Given the description of an element on the screen output the (x, y) to click on. 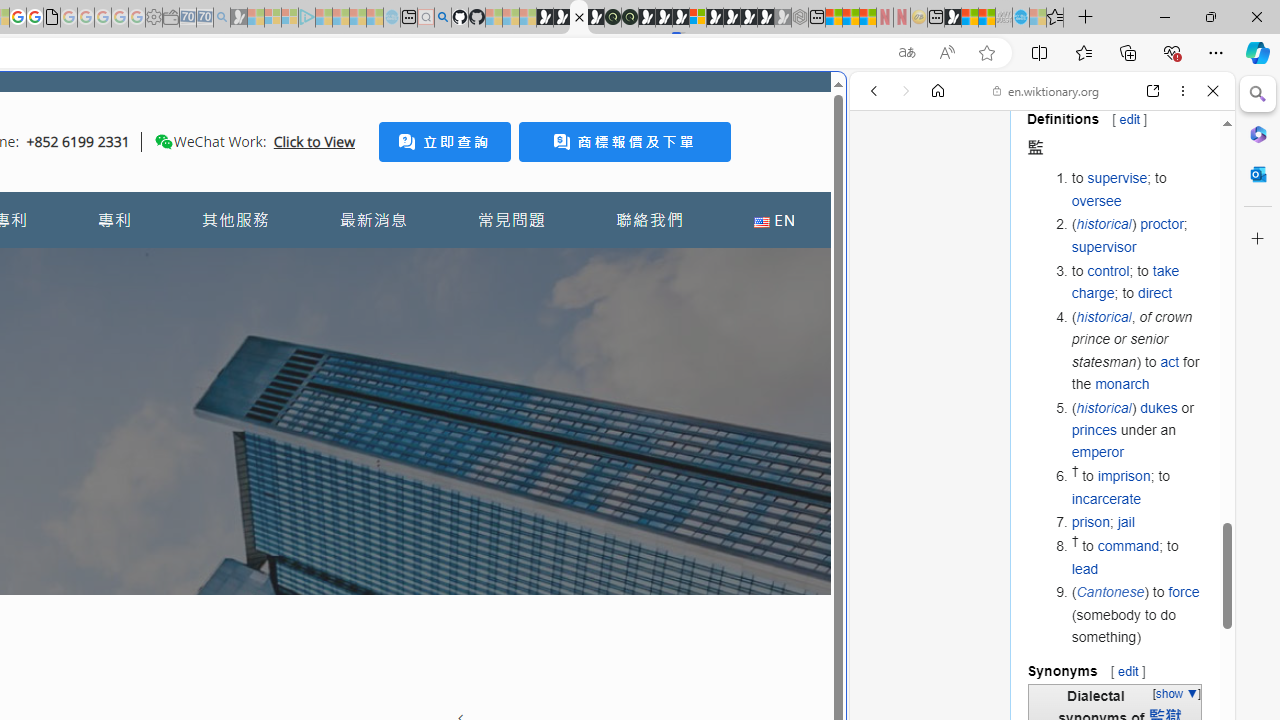
Frequently visited (418, 265)
dukes (1158, 407)
Home | Sky Blue Bikes - Sky Blue Bikes (687, 426)
Microsoft account | Privacy - Sleeping (289, 17)
More options (1182, 91)
jail (1126, 522)
World - MSN (969, 17)
Play Free Online Games | Games from Microsoft Start (731, 17)
Wallet - Sleeping (170, 17)
Bing Real Estate - Home sales and rental listings - Sleeping (221, 17)
